Given the description of an element on the screen output the (x, y) to click on. 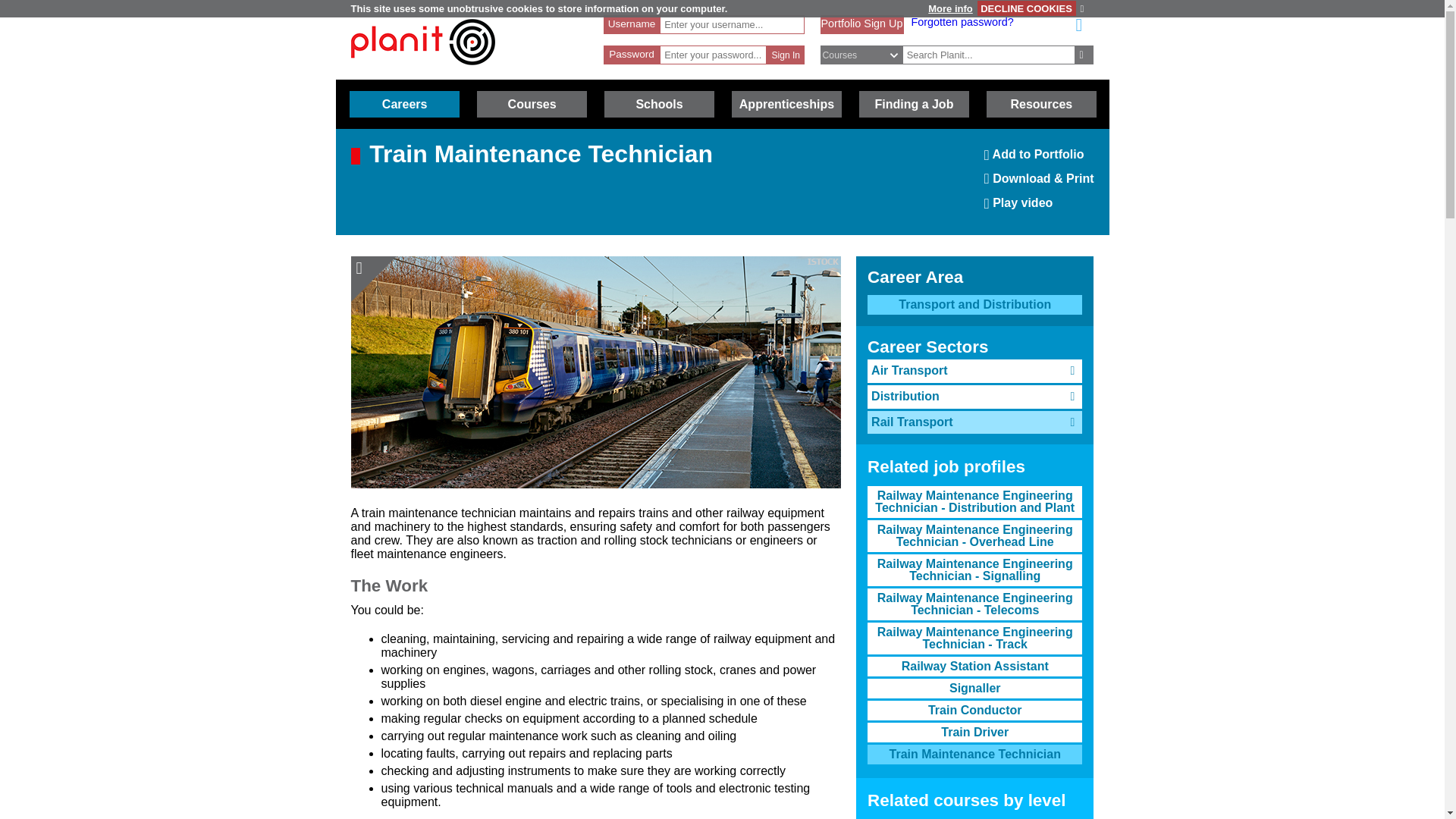
Planit (1039, 159)
Resources (422, 41)
Careers (1041, 103)
More info (404, 103)
Sign In (949, 8)
Enter text to search Planit (786, 54)
Planit Home (988, 54)
Search (422, 72)
Portfolio Sign Up (1084, 54)
Courses (861, 23)
Portfolio Sign Up (531, 103)
Select search type (861, 23)
DECLINE COOKIES (869, 54)
Forgotten password? (1025, 7)
